Given the description of an element on the screen output the (x, y) to click on. 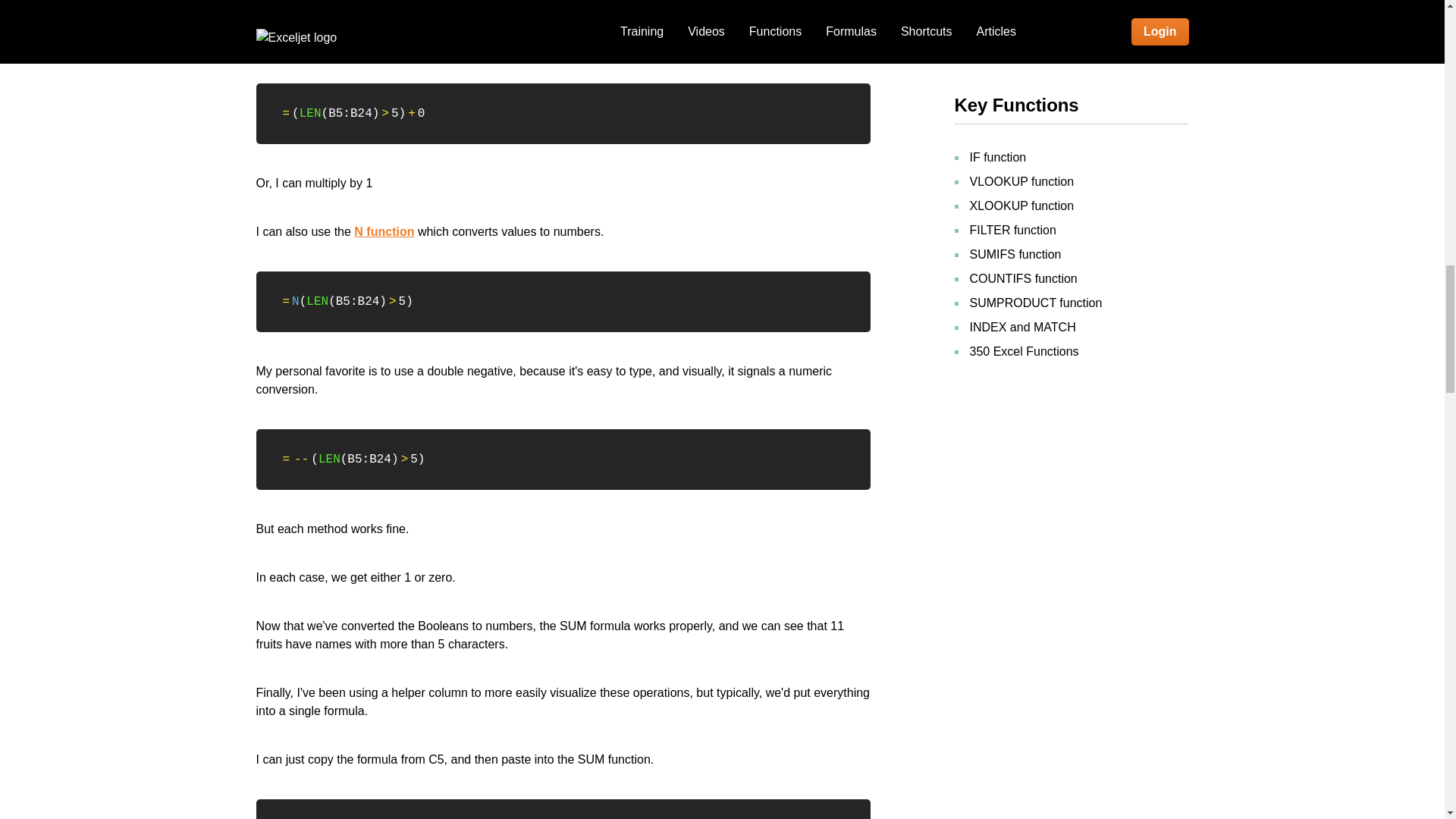
LEN (317, 301)
LEN (310, 113)
N function (383, 231)
LEN (329, 459)
